Given the description of an element on the screen output the (x, y) to click on. 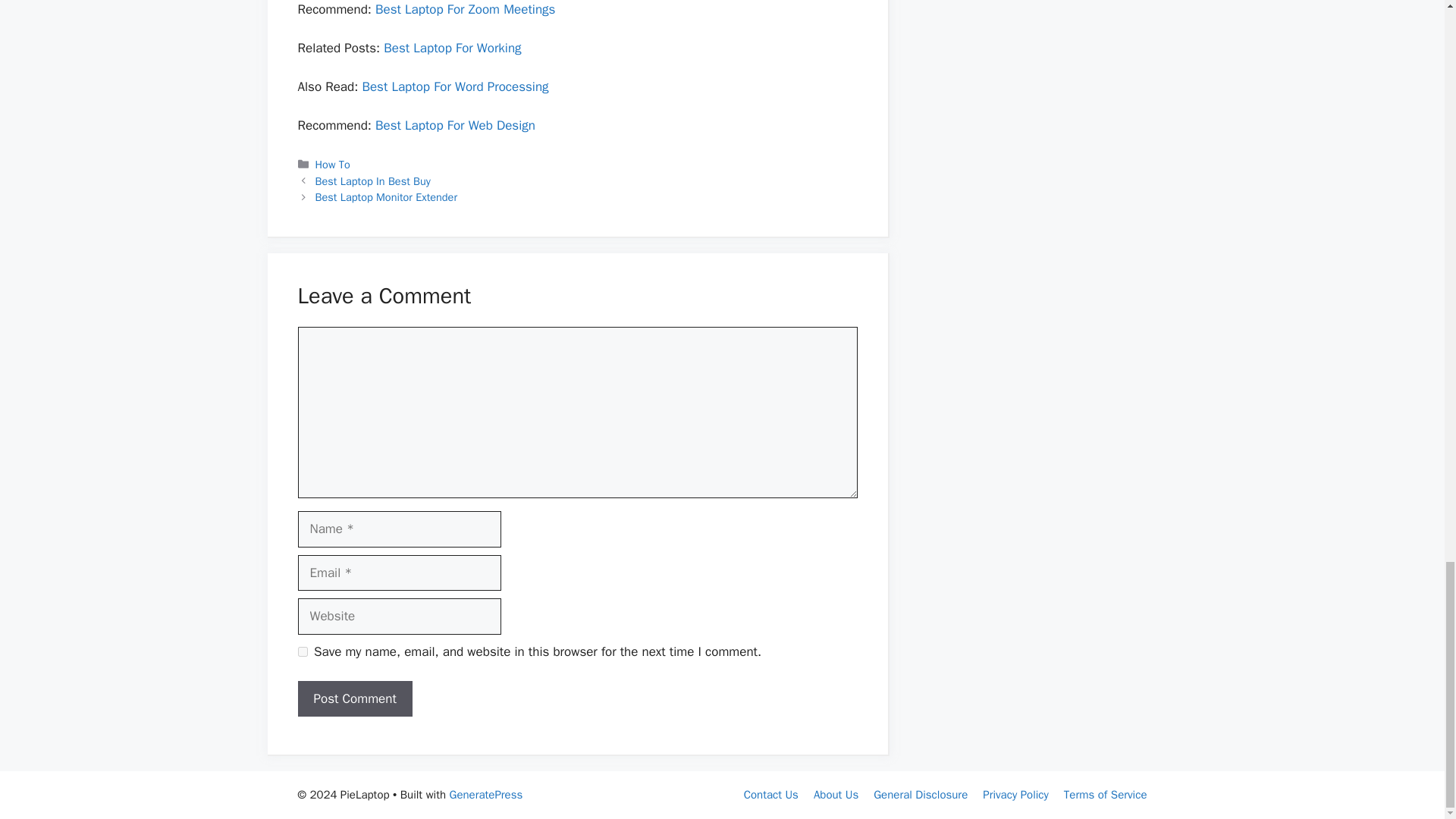
Post Comment (354, 698)
Best Laptop For Working (452, 48)
Best Laptop Monitor Extender (386, 196)
Best Laptop In Best Buy (372, 181)
Post Comment (354, 698)
yes (302, 651)
How To (332, 164)
Best Laptop For Web Design (455, 125)
Best Laptop For Word Processing (454, 86)
Best Laptop For Zoom Meetings (464, 9)
